Given the description of an element on the screen output the (x, y) to click on. 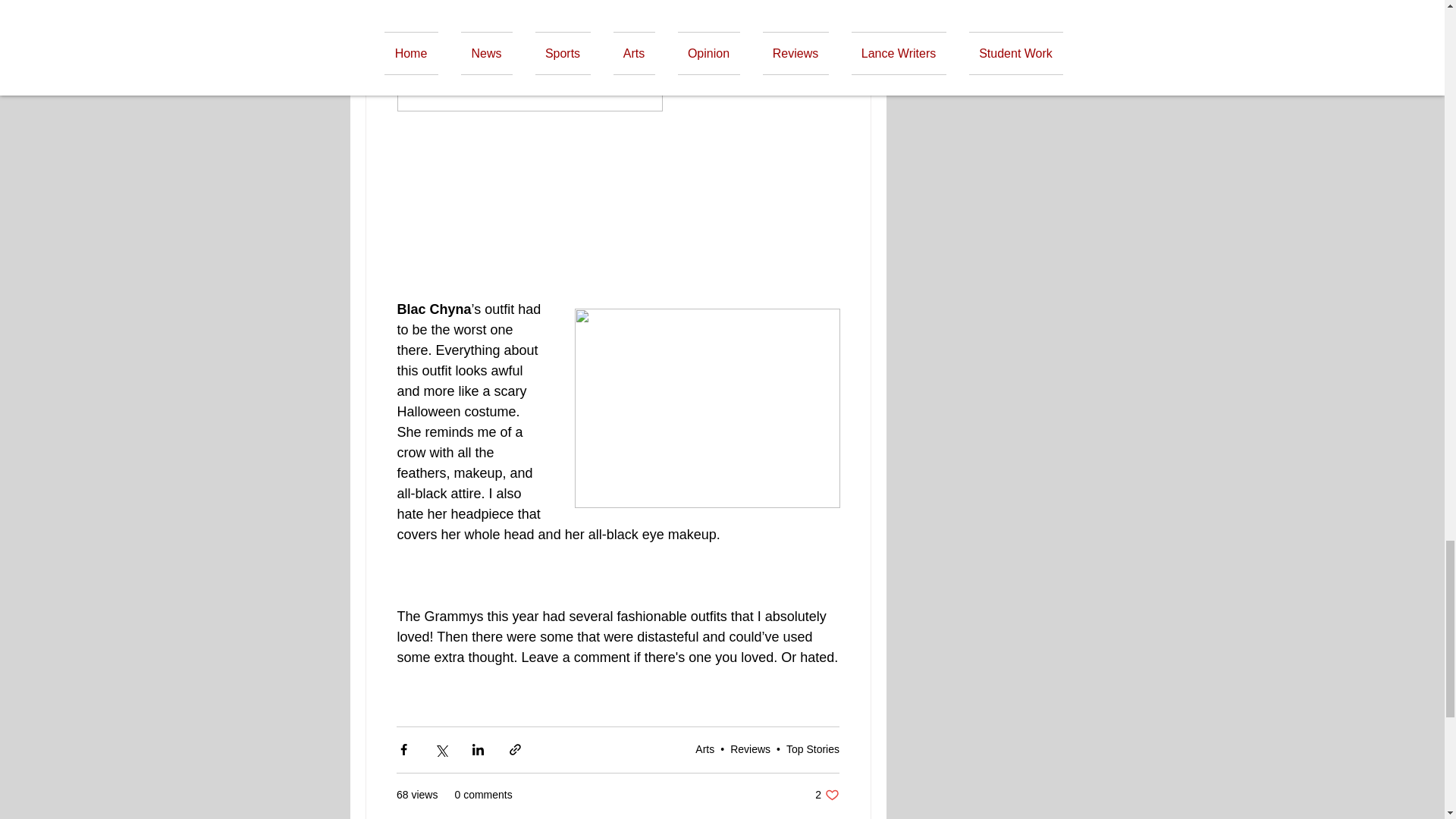
Top Stories (813, 748)
Arts (827, 794)
Reviews (704, 748)
